Given the description of an element on the screen output the (x, y) to click on. 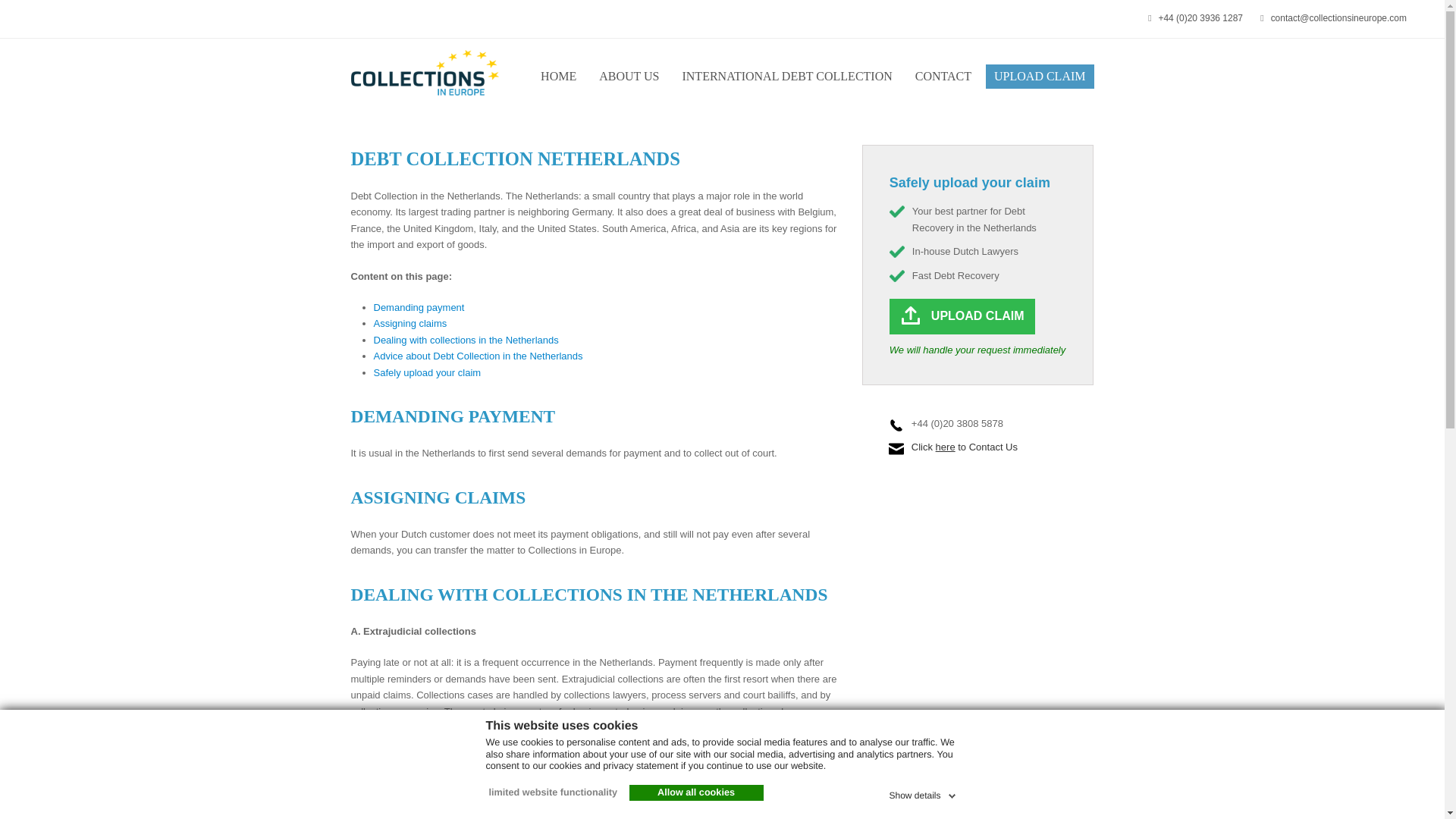
limited website functionality (550, 792)
UPLOAD CLAIM (1039, 76)
Allow all cookies (695, 792)
CONTACT (943, 76)
HOME (558, 76)
INTERNATIONAL DEBT COLLECTION (785, 76)
ABOUT US (628, 76)
Show details (923, 792)
